Given the description of an element on the screen output the (x, y) to click on. 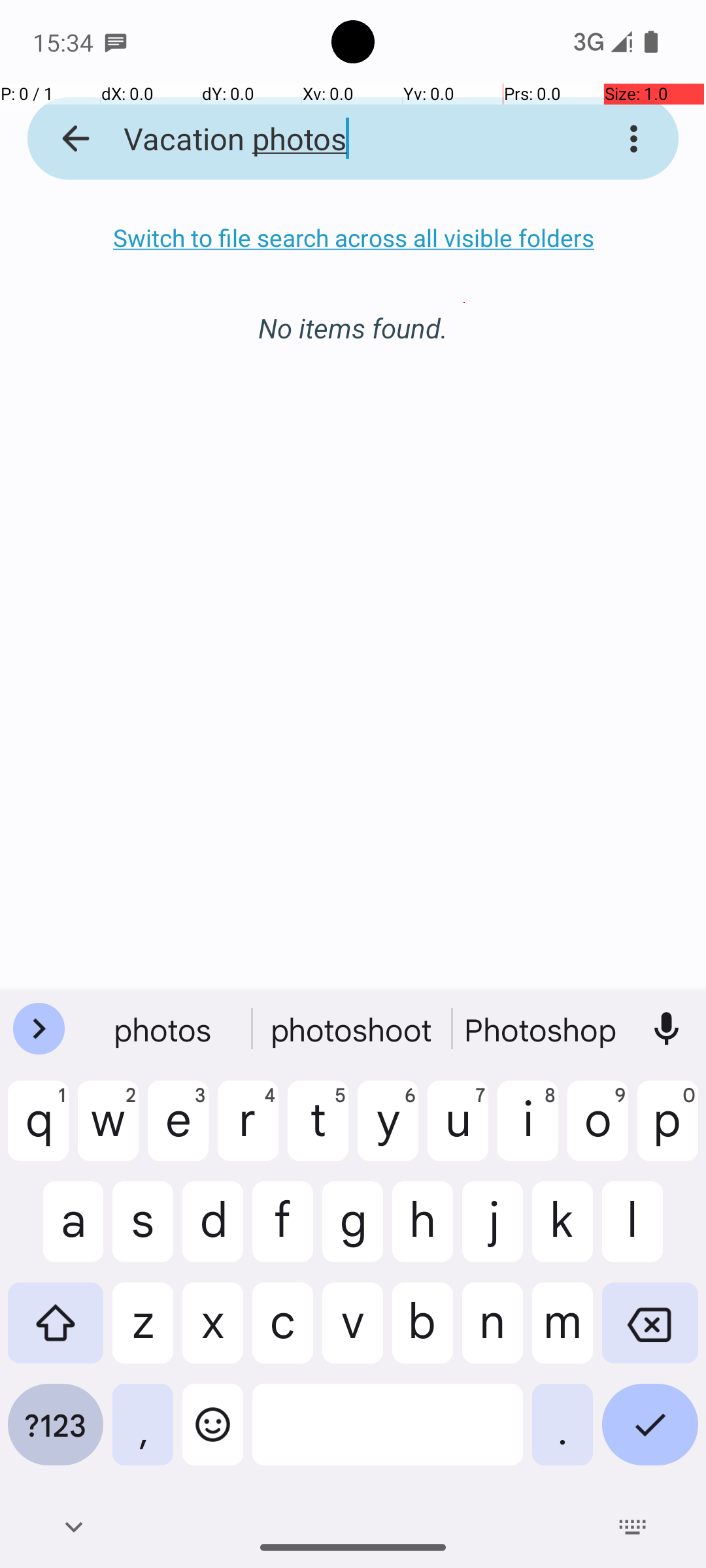
Switch to file search across all visible folders Element type: android.widget.TextView (353, 237)
No items found. Element type: android.widget.TextView (353, 313)
Vacation photos Element type: android.widget.EditText (335, 138)
Switch input method Element type: android.widget.ImageView (632, 1526)
Open features menu Element type: android.widget.FrameLayout (39, 1028)
photos Element type: android.widget.FrameLayout (163, 1028)
photoshoot Element type: android.widget.FrameLayout (352, 1028)
Photoshop Element type: android.widget.FrameLayout (541, 1028)
Voice input Element type: android.widget.FrameLayout (666, 1028)
q Element type: android.widget.FrameLayout (38, 1130)
w Element type: android.widget.FrameLayout (108, 1130)
e Element type: android.widget.FrameLayout (178, 1130)
r Element type: android.widget.FrameLayout (248, 1130)
t Element type: android.widget.FrameLayout (318, 1130)
y Element type: android.widget.FrameLayout (387, 1130)
u Element type: android.widget.FrameLayout (457, 1130)
i Element type: android.widget.FrameLayout (527, 1130)
o Element type: android.widget.FrameLayout (597, 1130)
p Element type: android.widget.FrameLayout (667, 1130)
a Element type: android.widget.FrameLayout (55, 1231)
s Element type: android.widget.FrameLayout (142, 1231)
d Element type: android.widget.FrameLayout (212, 1231)
f Element type: android.widget.FrameLayout (282, 1231)
g Element type: android.widget.FrameLayout (352, 1231)
h Element type: android.widget.FrameLayout (422, 1231)
j Element type: android.widget.FrameLayout (492, 1231)
k Element type: android.widget.FrameLayout (562, 1231)
l Element type: android.widget.FrameLayout (649, 1231)
Shift Element type: android.widget.FrameLayout (55, 1332)
z Element type: android.widget.FrameLayout (142, 1332)
x Element type: android.widget.FrameLayout (212, 1332)
c Element type: android.widget.FrameLayout (282, 1332)
v Element type: android.widget.FrameLayout (352, 1332)
b Element type: android.widget.FrameLayout (422, 1332)
n Element type: android.widget.FrameLayout (492, 1332)
m Element type: android.widget.FrameLayout (562, 1332)
Symbol keyboard Element type: android.widget.FrameLayout (55, 1434)
, Element type: android.widget.FrameLayout (142, 1434)
Emoji button Element type: android.widget.FrameLayout (212, 1434)
Space Element type: android.widget.FrameLayout (387, 1434)
. Element type: android.widget.FrameLayout (562, 1434)
Done Element type: android.widget.FrameLayout (649, 1434)
